Given the description of an element on the screen output the (x, y) to click on. 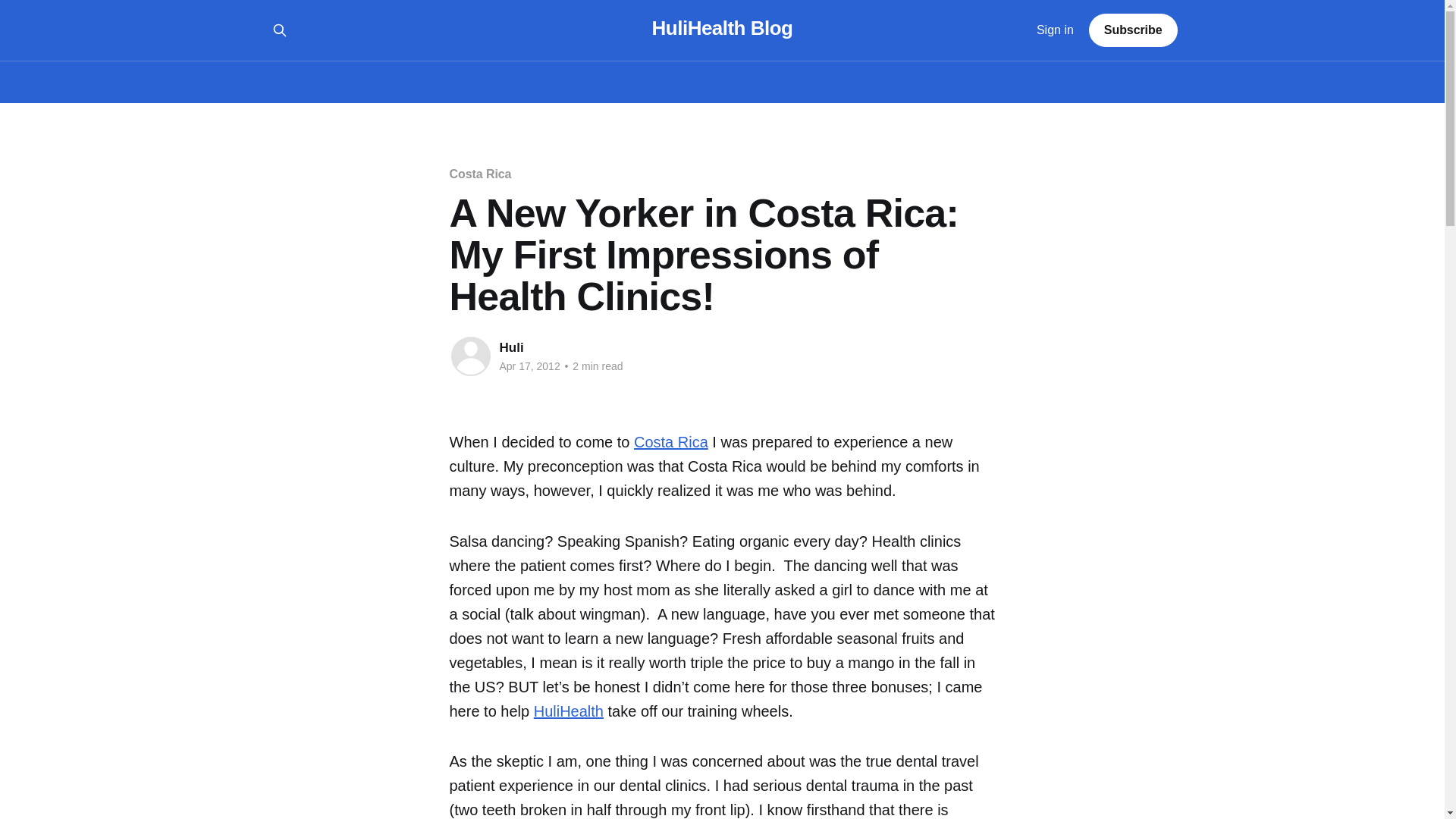
Sign in (1055, 30)
Costa Rica (479, 173)
HuliHealth (569, 710)
HuliHealth Blog (722, 28)
Costa Rica (670, 442)
HuliHealth (569, 710)
Subscribe (1133, 29)
Huli (510, 347)
Costa Rica (670, 442)
